Given the description of an element on the screen output the (x, y) to click on. 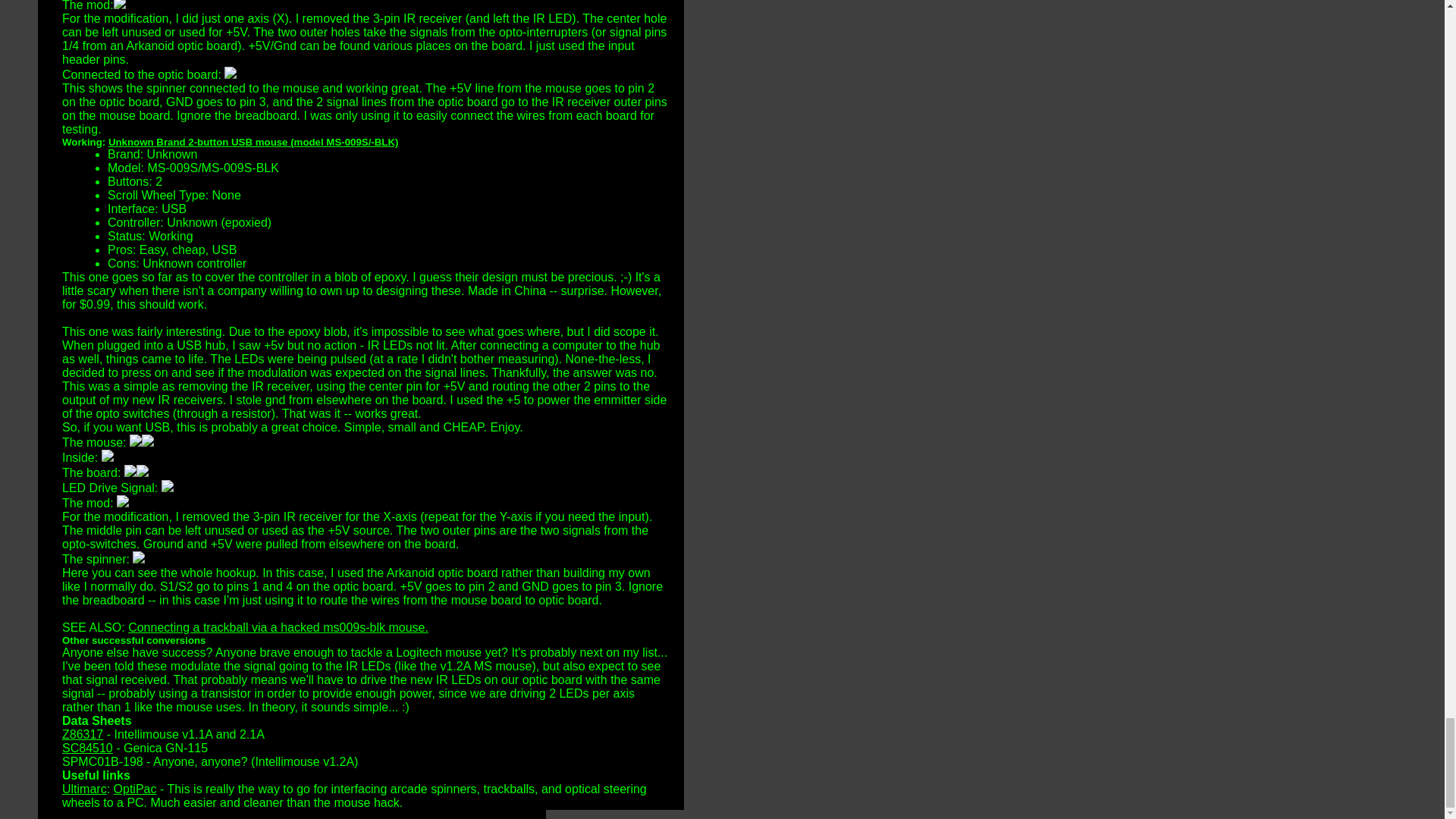
Ultimarc (84, 788)
SC84510 (87, 748)
OptiPac (135, 788)
Z86317 (82, 734)
Connecting a trackball via a hacked ms009s-blk mouse. (278, 626)
